Given the description of an element on the screen output the (x, y) to click on. 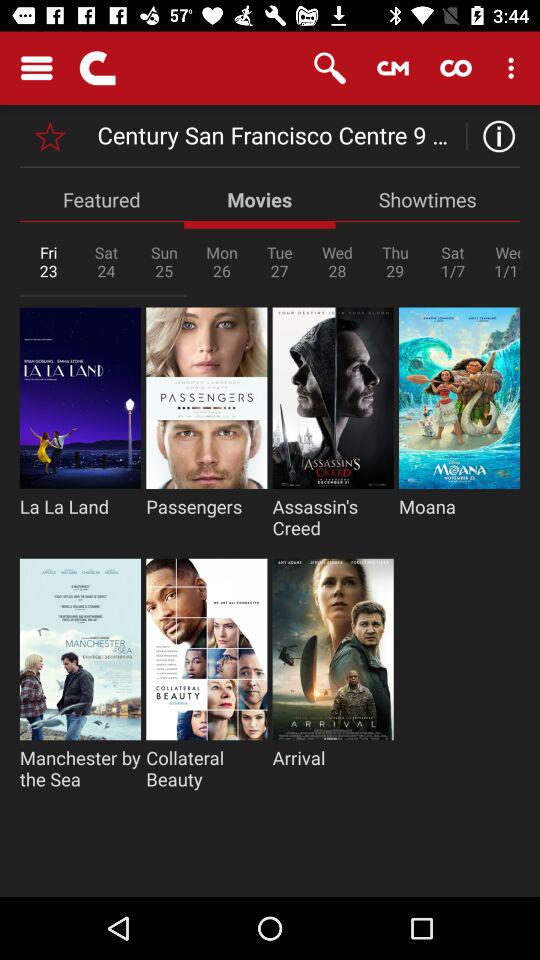
select more information (493, 136)
